Given the description of an element on the screen output the (x, y) to click on. 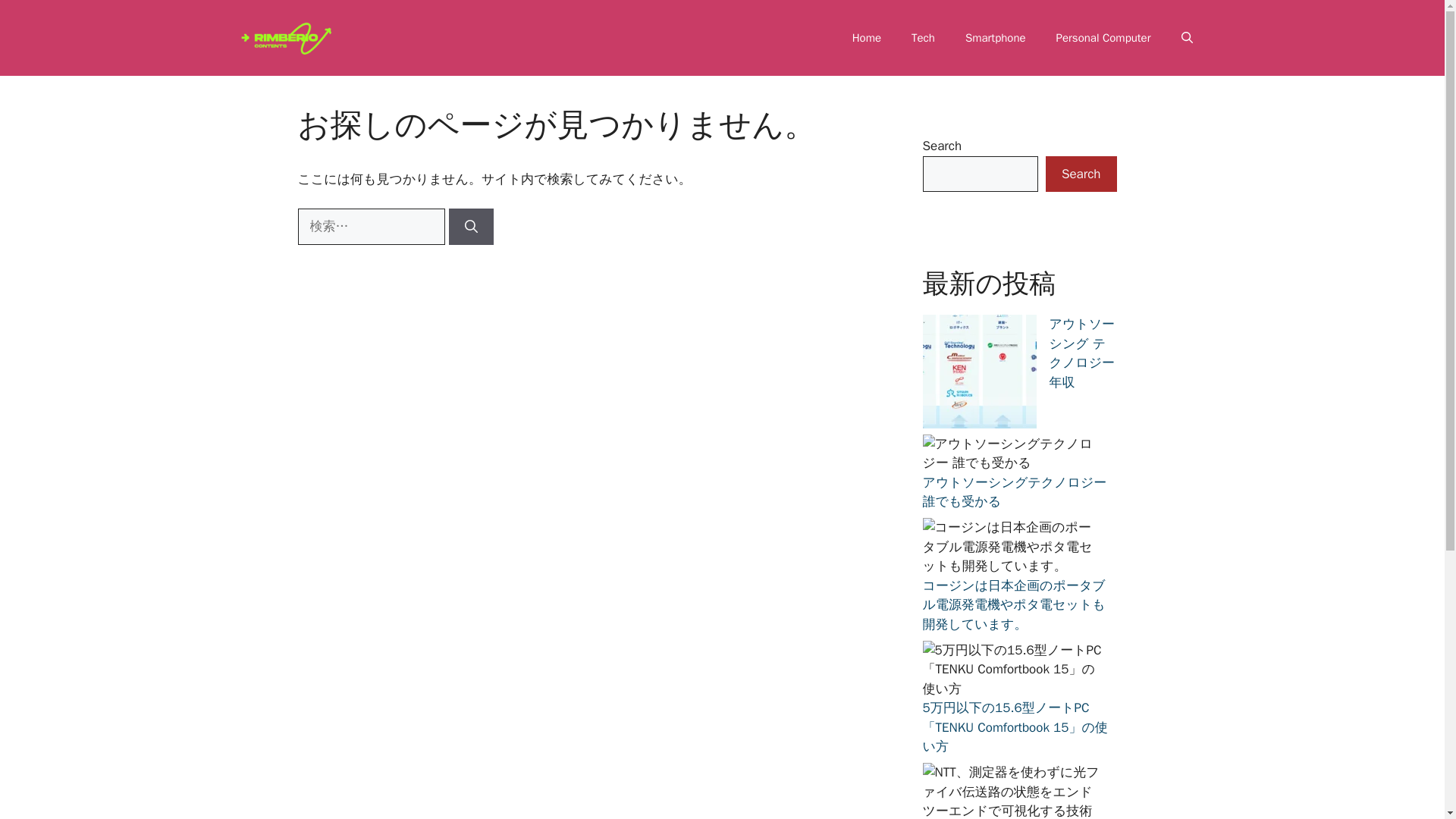
Tech (923, 37)
Smartphone (995, 37)
Home (866, 37)
Search (1080, 174)
Personal Computer (1103, 37)
